Given the description of an element on the screen output the (x, y) to click on. 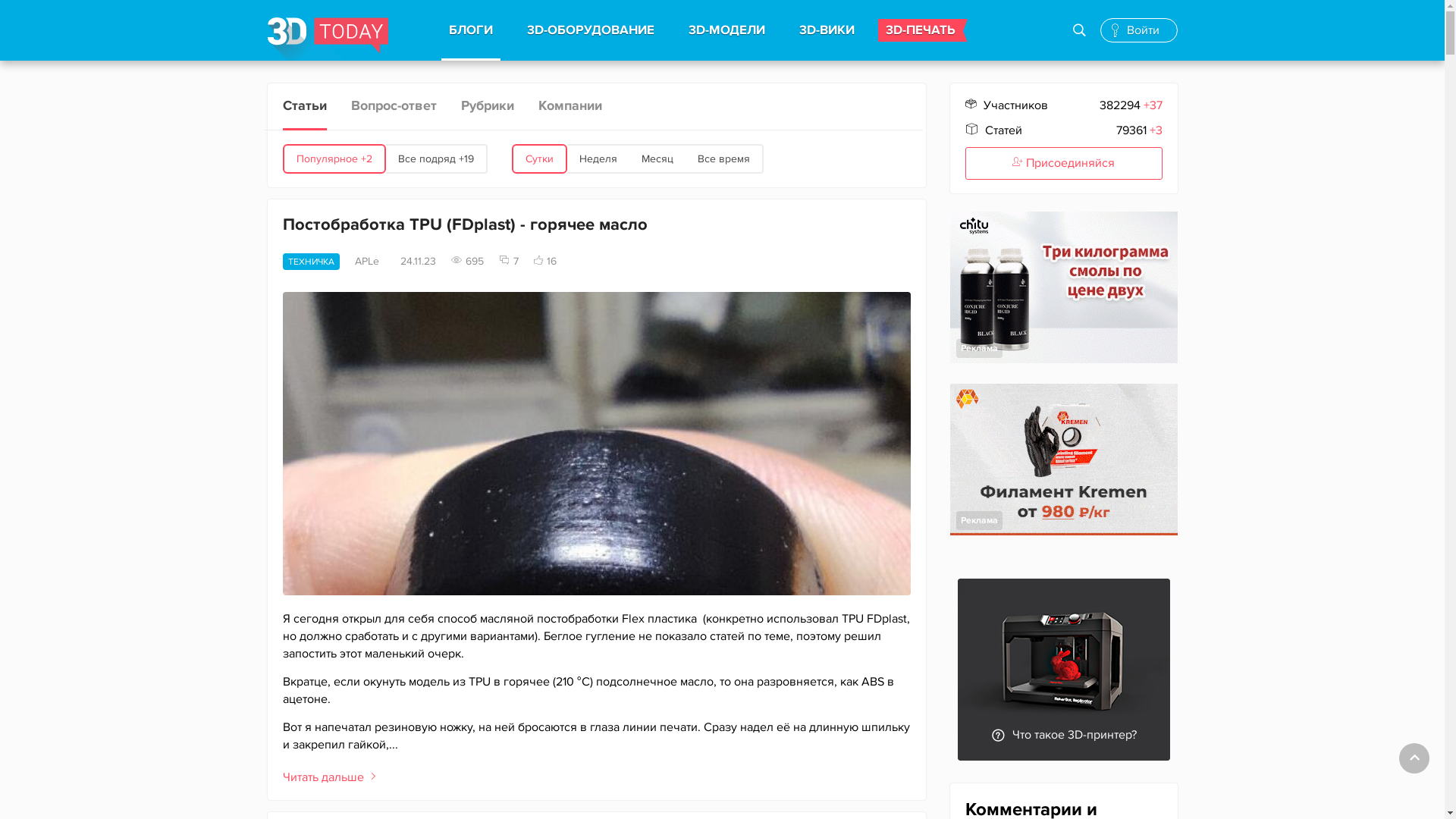
7 Element type: text (508, 260)
Kremen DS Element type: hover (1062, 459)
APLe Element type: text (369, 261)
Chitu11 Element type: hover (1062, 287)
